Given the description of an element on the screen output the (x, y) to click on. 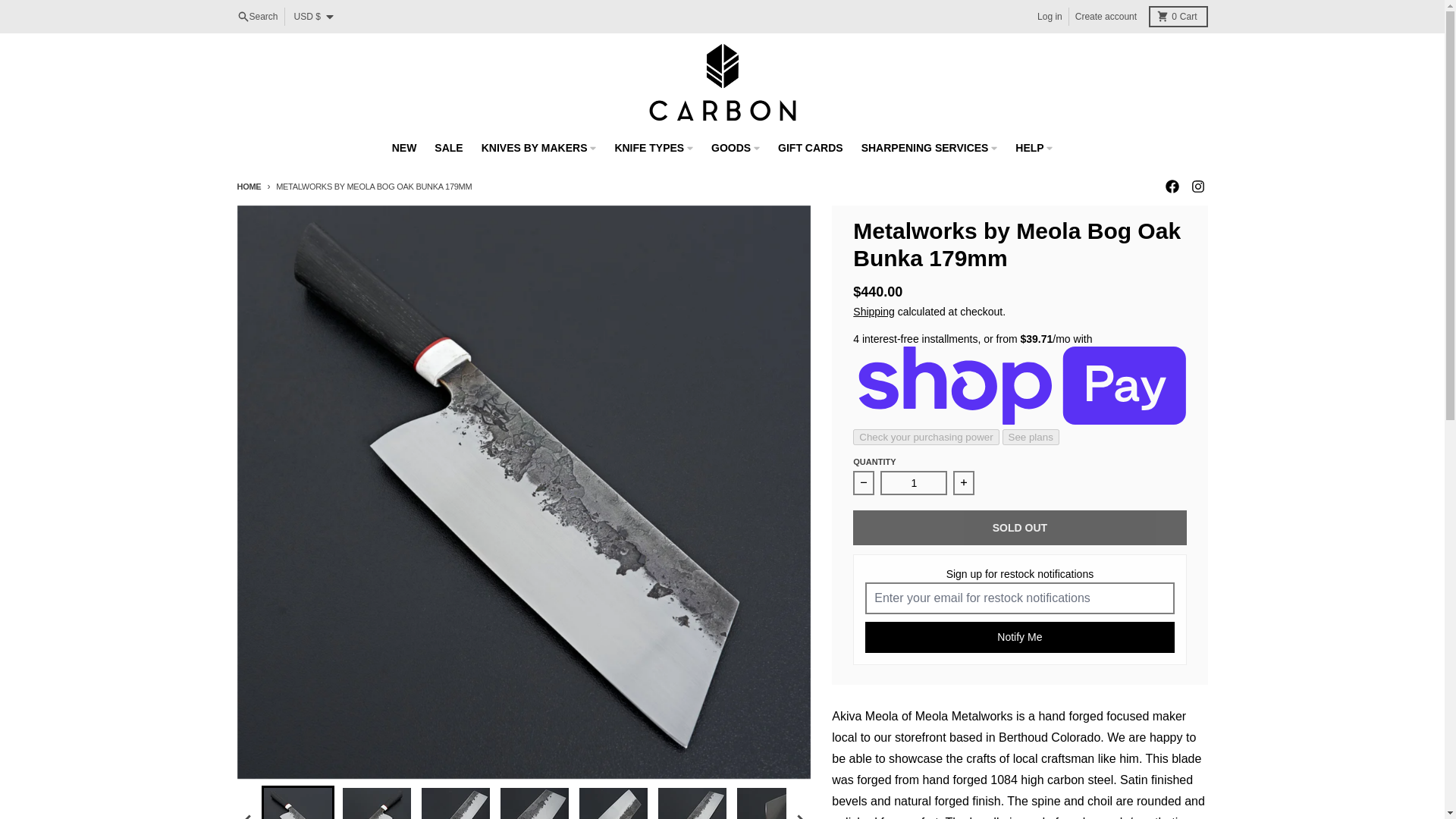
Back to the homepage (247, 185)
Facebook - Carbon Knife Co (1170, 185)
Search (256, 16)
Log in (1049, 16)
Create account (1105, 16)
Instagram - Carbon Knife Co (1197, 185)
1 (1177, 16)
